Given the description of an element on the screen output the (x, y) to click on. 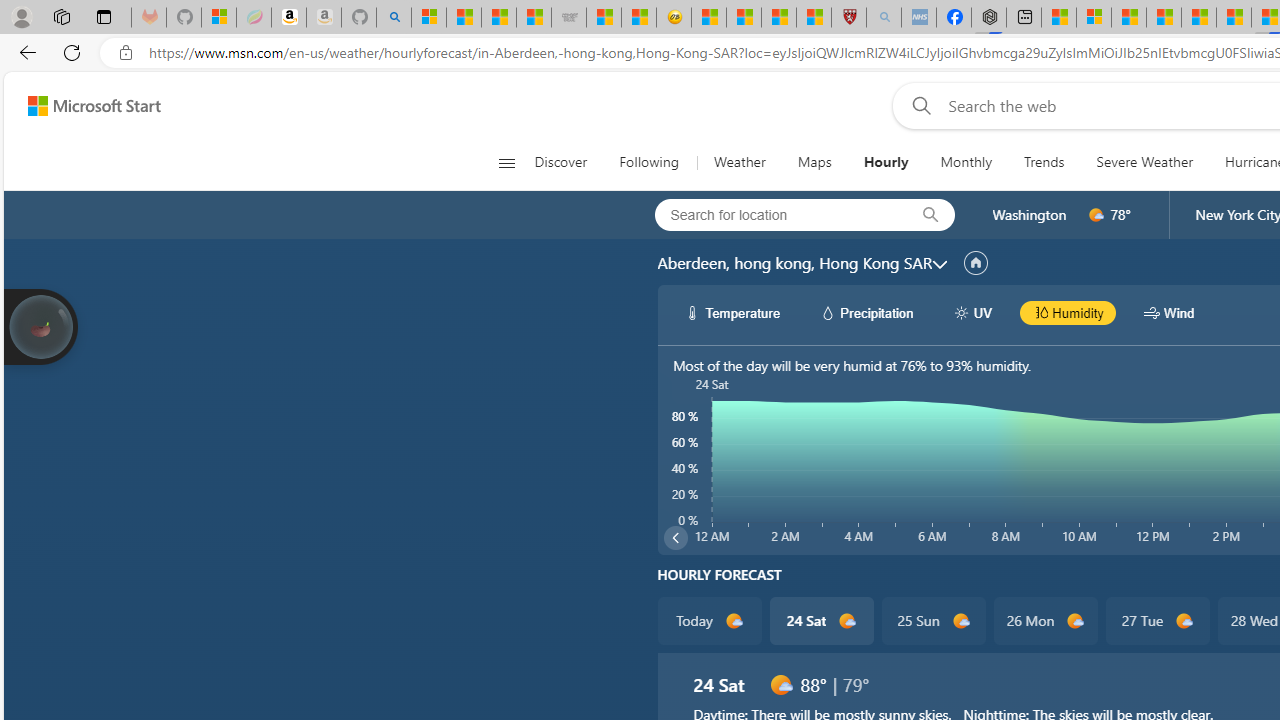
hourlyChart/windWhite Wind (1169, 312)
Join us in planting real trees to help our planet! (40, 327)
Trends (1044, 162)
hourlyChart/uvWhite (961, 312)
Today d1000 (708, 620)
locationName/setHomeLocation (976, 263)
hourlyChart/humidityBlack Humidity (1068, 312)
